Given the description of an element on the screen output the (x, y) to click on. 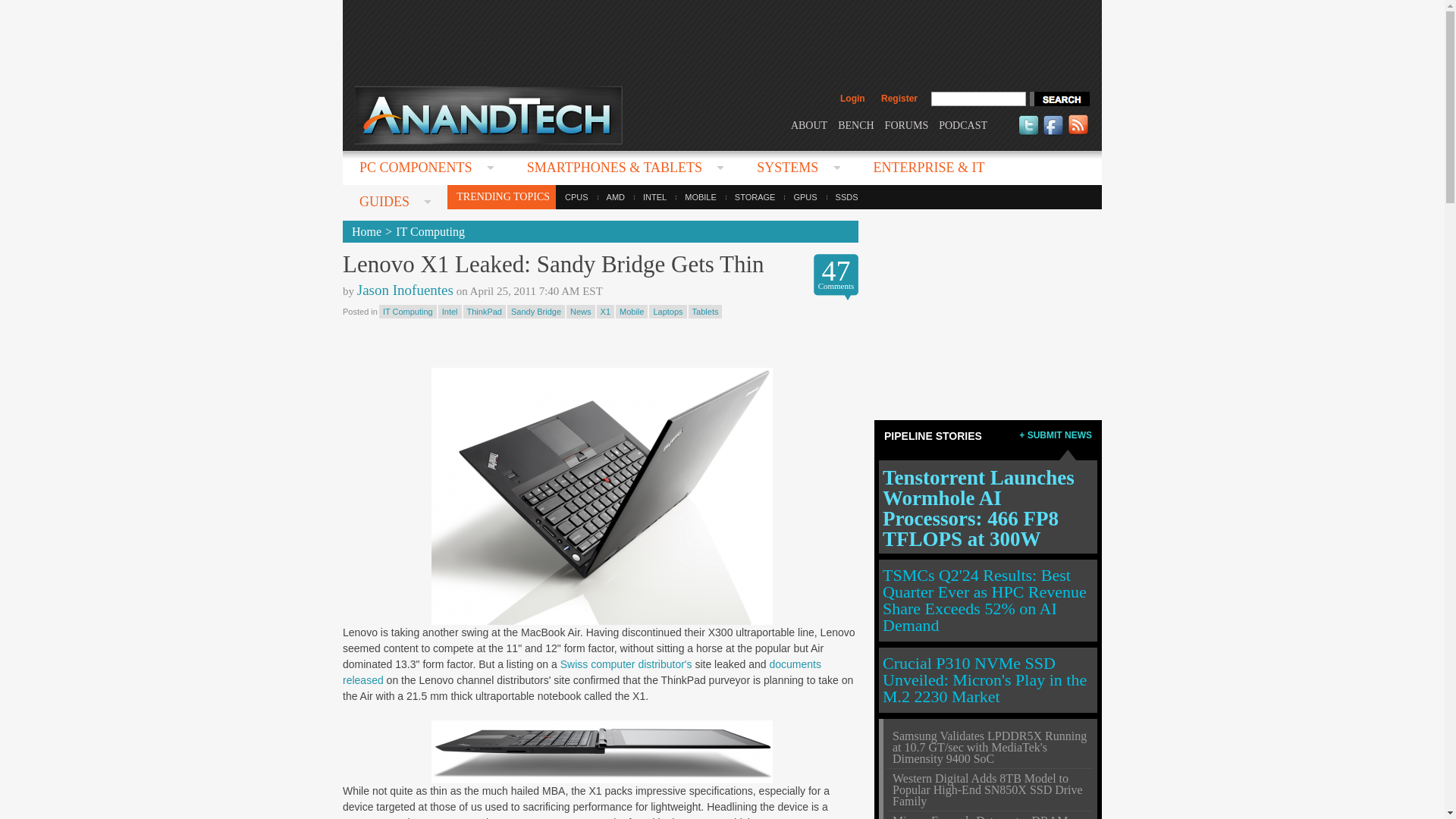
BENCH (855, 125)
ABOUT (808, 125)
PODCAST (963, 125)
FORUMS (906, 125)
Register (898, 98)
search (1059, 98)
search (1059, 98)
Login (852, 98)
search (1059, 98)
